Given the description of an element on the screen output the (x, y) to click on. 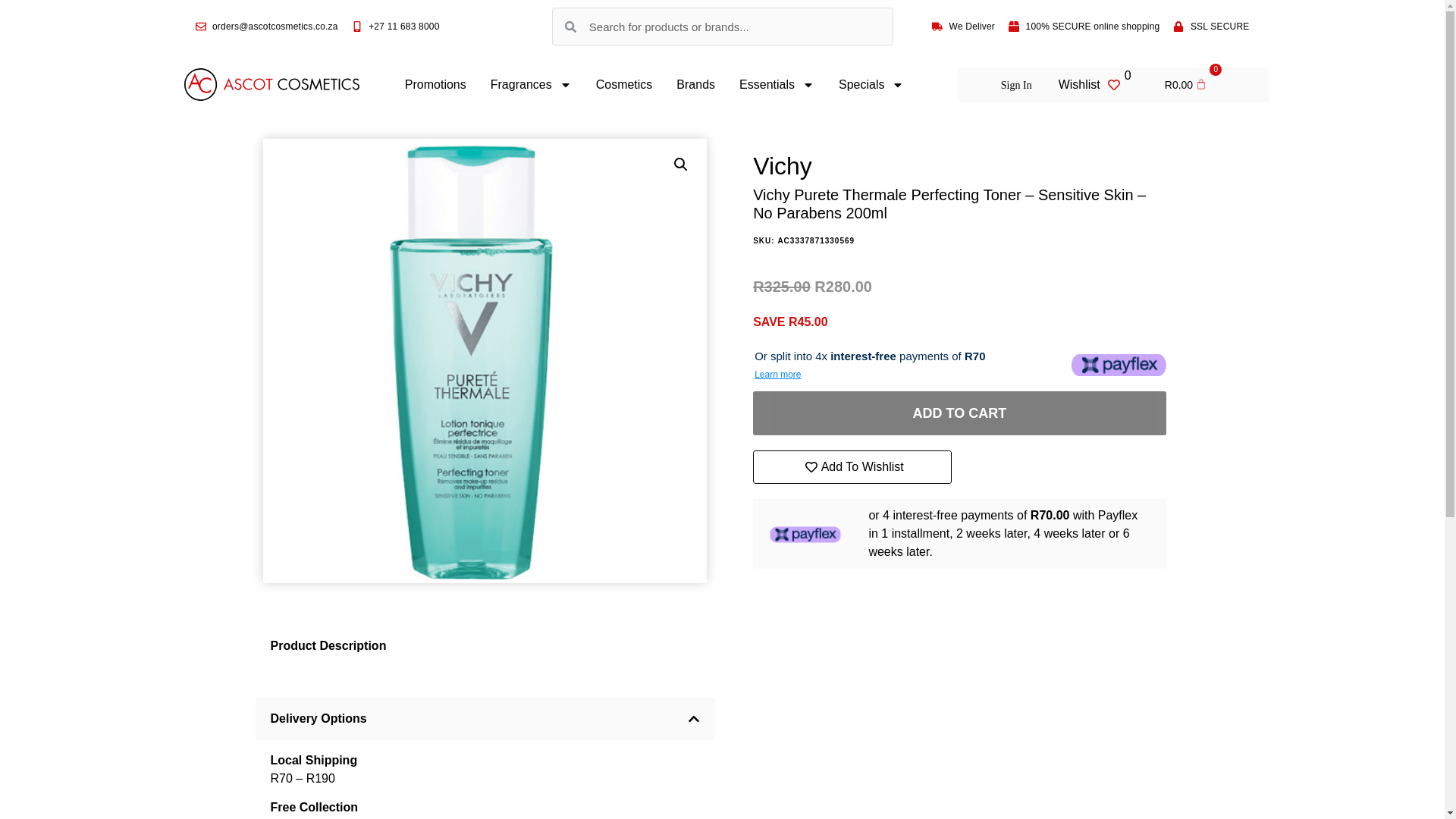
Promotions (436, 84)
Specials (871, 84)
Brands (694, 84)
Essentials (776, 84)
Fragrances (531, 84)
Cosmetics (624, 84)
